Given the description of an element on the screen output the (x, y) to click on. 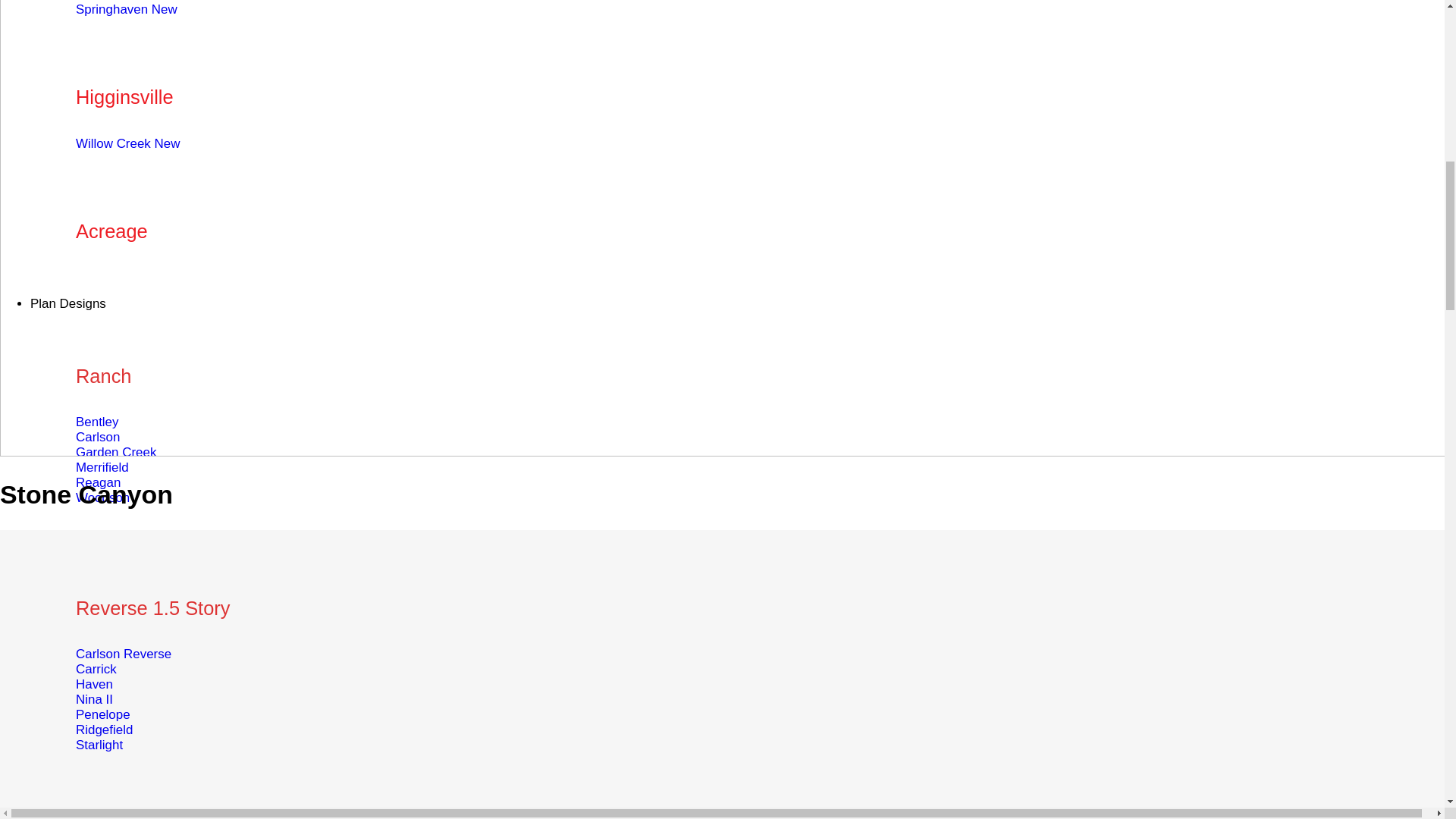
Carlson (97, 436)
Nina II (94, 699)
Haven (94, 684)
Merrifield (102, 467)
Springhaven (126, 9)
Penelope (103, 714)
Woodson (102, 497)
Carrick (95, 668)
Villa Meadows (131, 0)
Carlson Reverse (123, 653)
Bentley (97, 421)
Plan Designs (68, 303)
Ridgefield (103, 729)
Garden Creek (115, 452)
Willow Creek (127, 143)
